Given the description of an element on the screen output the (x, y) to click on. 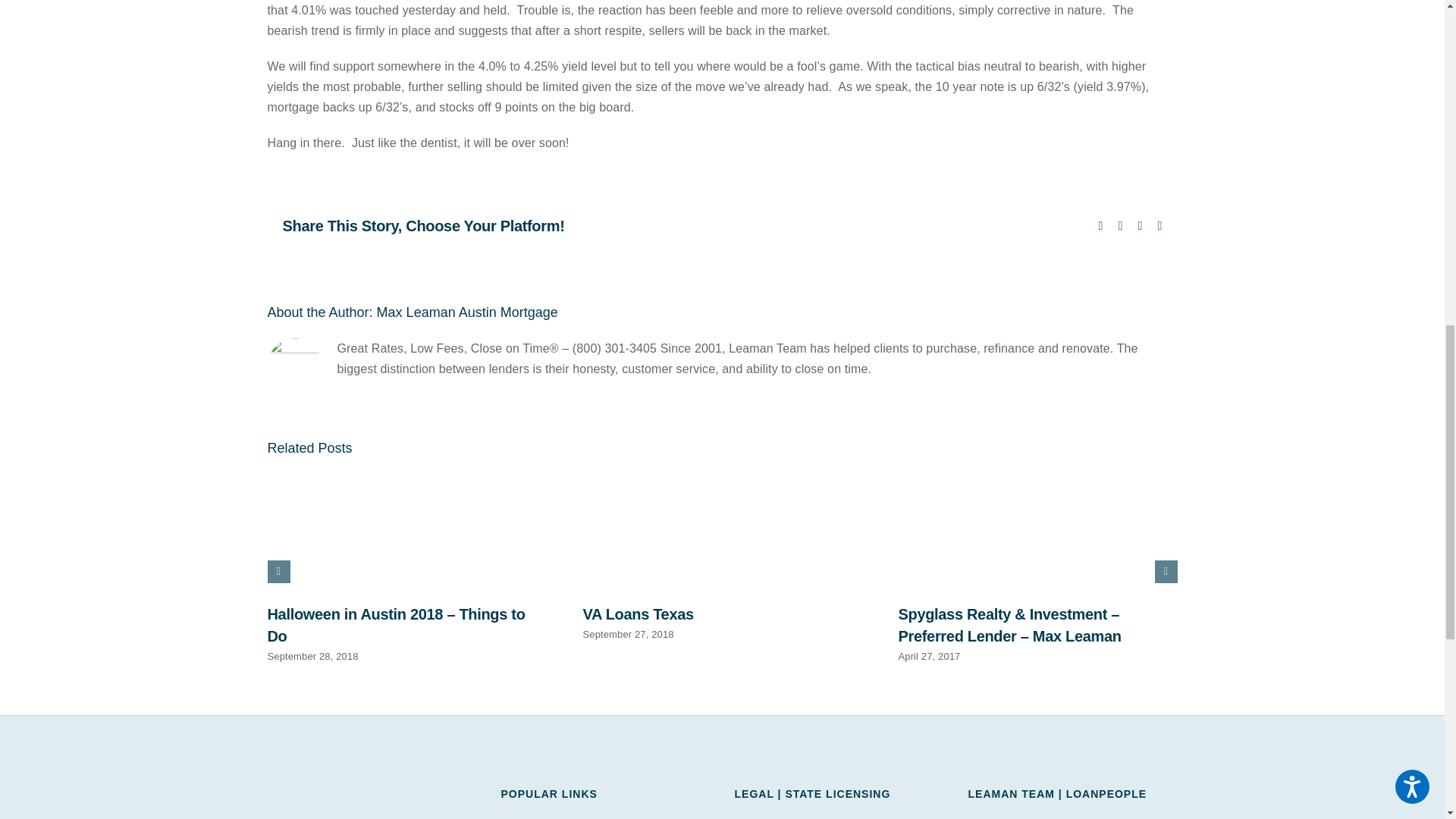
Max Leaman Austin Mortgage (467, 312)
Posts by Max Leaman Austin Mortgage (467, 312)
VA Loans Texas (637, 614)
VA Loans Texas (637, 614)
